Given the description of an element on the screen output the (x, y) to click on. 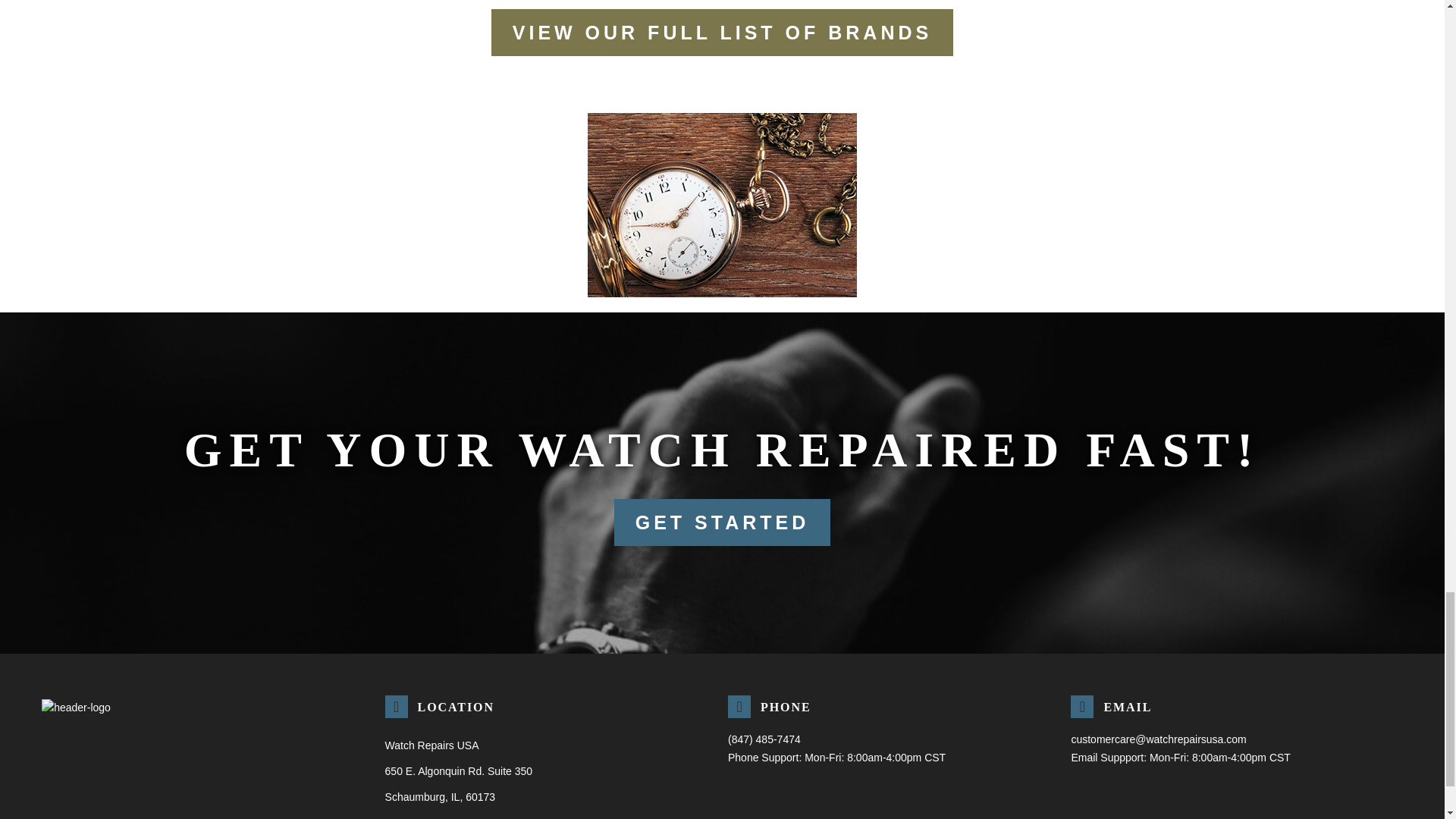
VIEW OUR FULL LIST OF BRANDS (722, 32)
GET STARTED (722, 522)
